Given the description of an element on the screen output the (x, y) to click on. 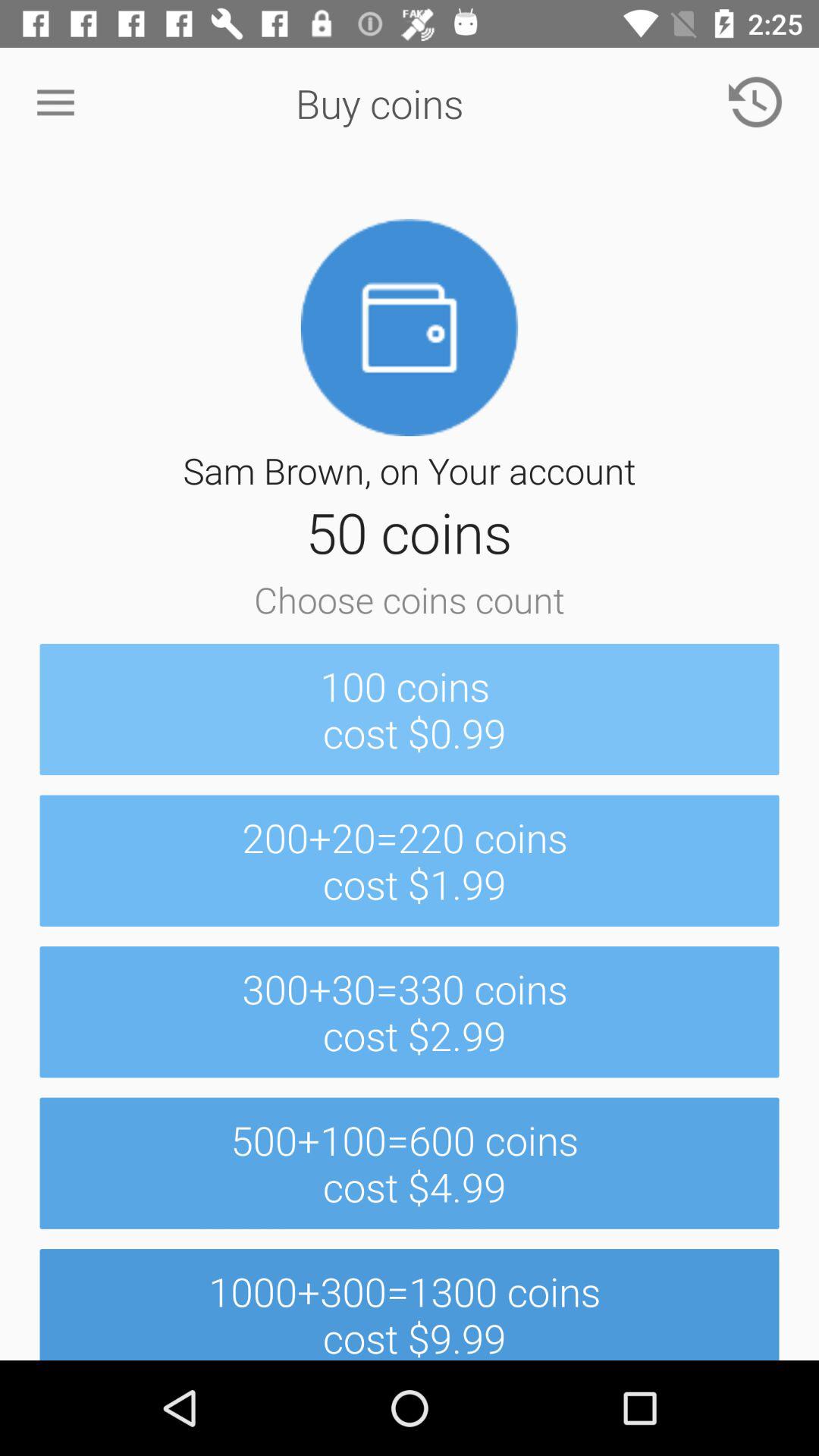
launch item above the 300 30 330 item (409, 860)
